Given the description of an element on the screen output the (x, y) to click on. 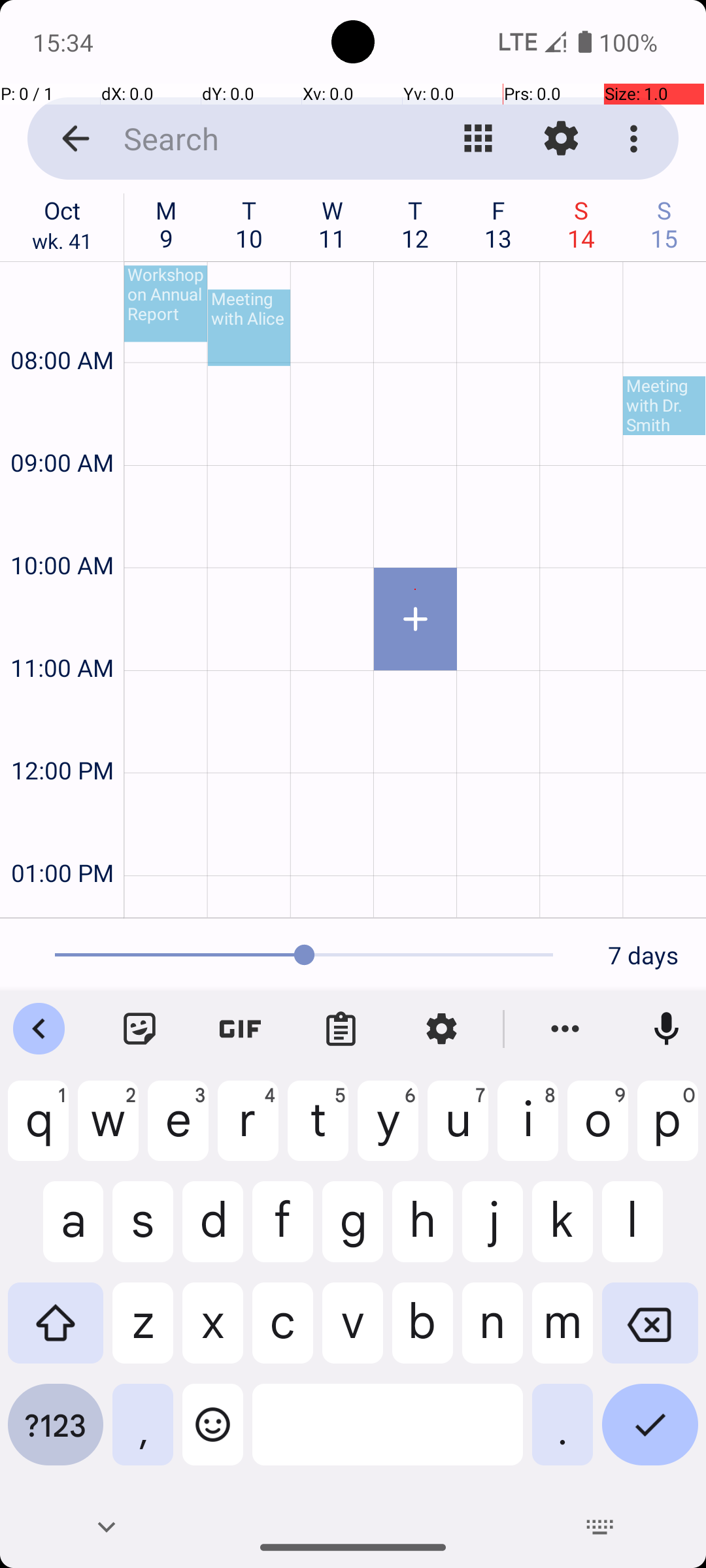
08:00 AM Element type: android.widget.TextView (62, 324)
09:00 AM Element type: android.widget.TextView (62, 427)
10:00 AM Element type: android.widget.TextView (62, 529)
11:00 AM Element type: android.widget.TextView (62, 632)
12:00 PM Element type: android.widget.TextView (62, 735)
02:00 PM Element type: android.widget.TextView (62, 903)
Meeting with Alice Element type: android.widget.TextView (248, 327)
